Given the description of an element on the screen output the (x, y) to click on. 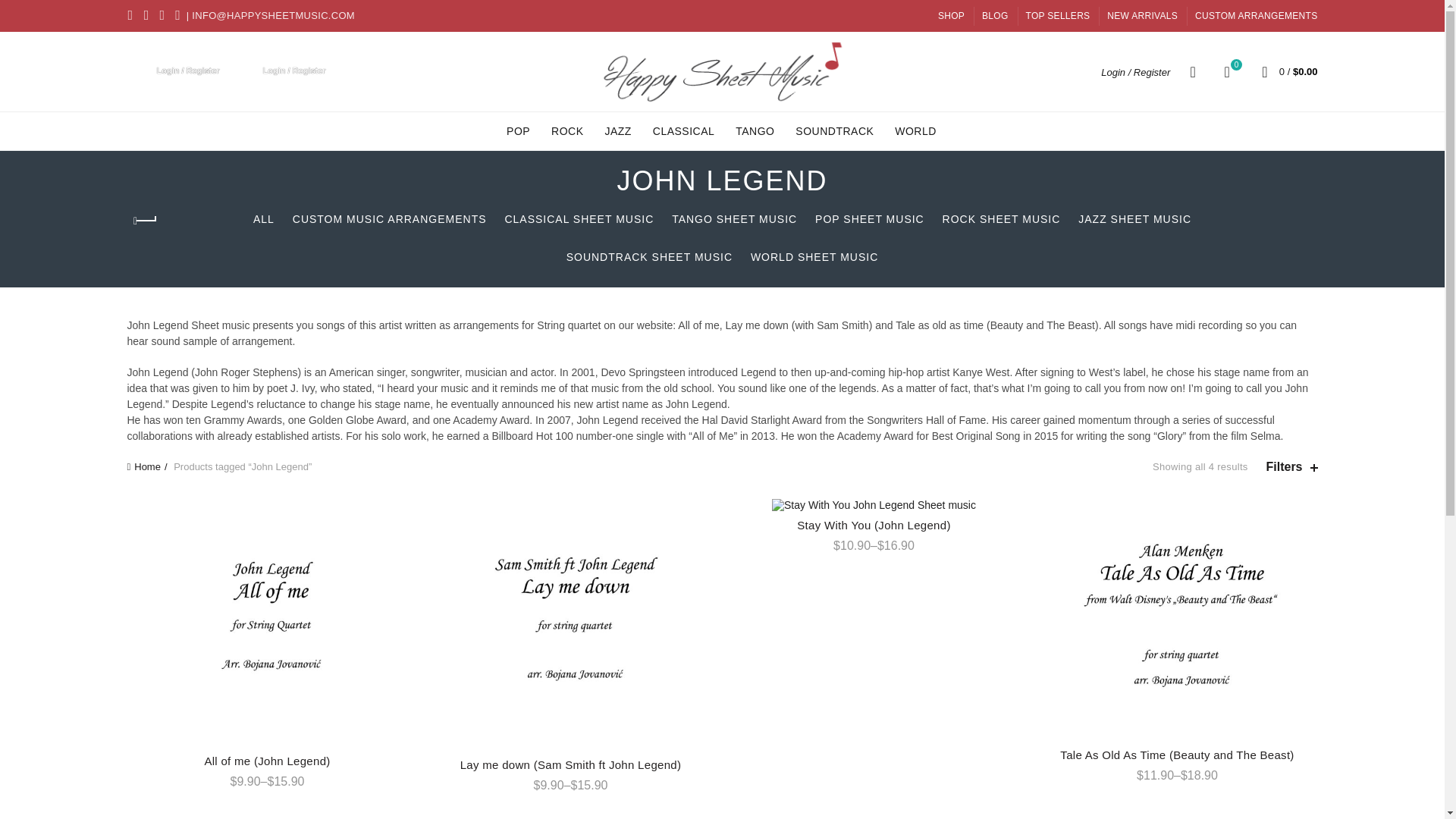
JAZZ (617, 130)
TANGO (754, 130)
TOP SELLERS (1058, 15)
ALL (264, 218)
POP (518, 130)
WORLD (915, 130)
CLASSICAL (684, 130)
Back (146, 220)
SHOP (1227, 71)
BLOG (950, 15)
CLASSICAL SHEET MUSIC (995, 15)
CUSTOM ARRANGEMENTS (578, 218)
SOUNDTRACK (1256, 15)
ROCK (834, 130)
